Given the description of an element on the screen output the (x, y) to click on. 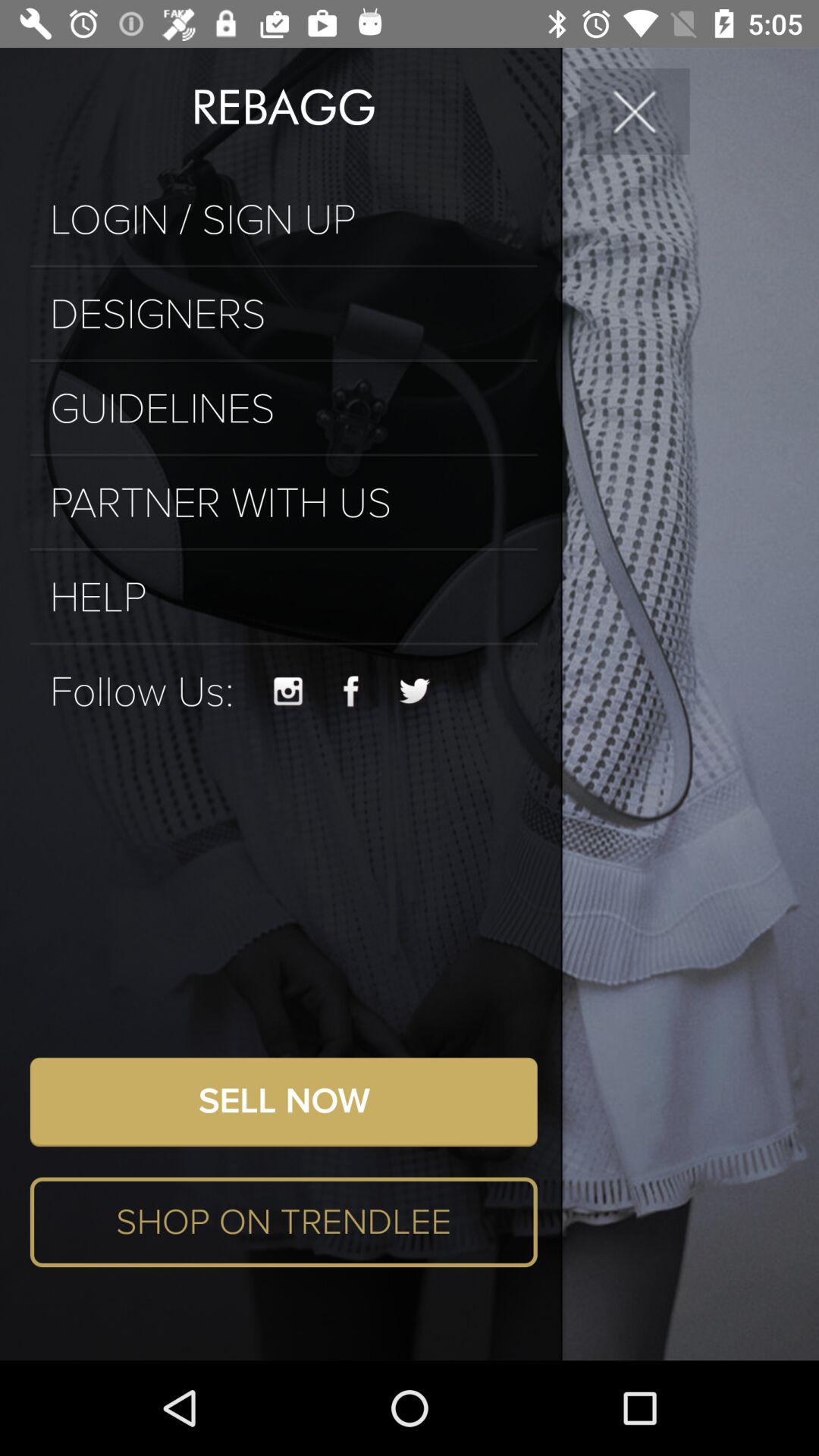
flip until the designers (283, 314)
